Given the description of an element on the screen output the (x, y) to click on. 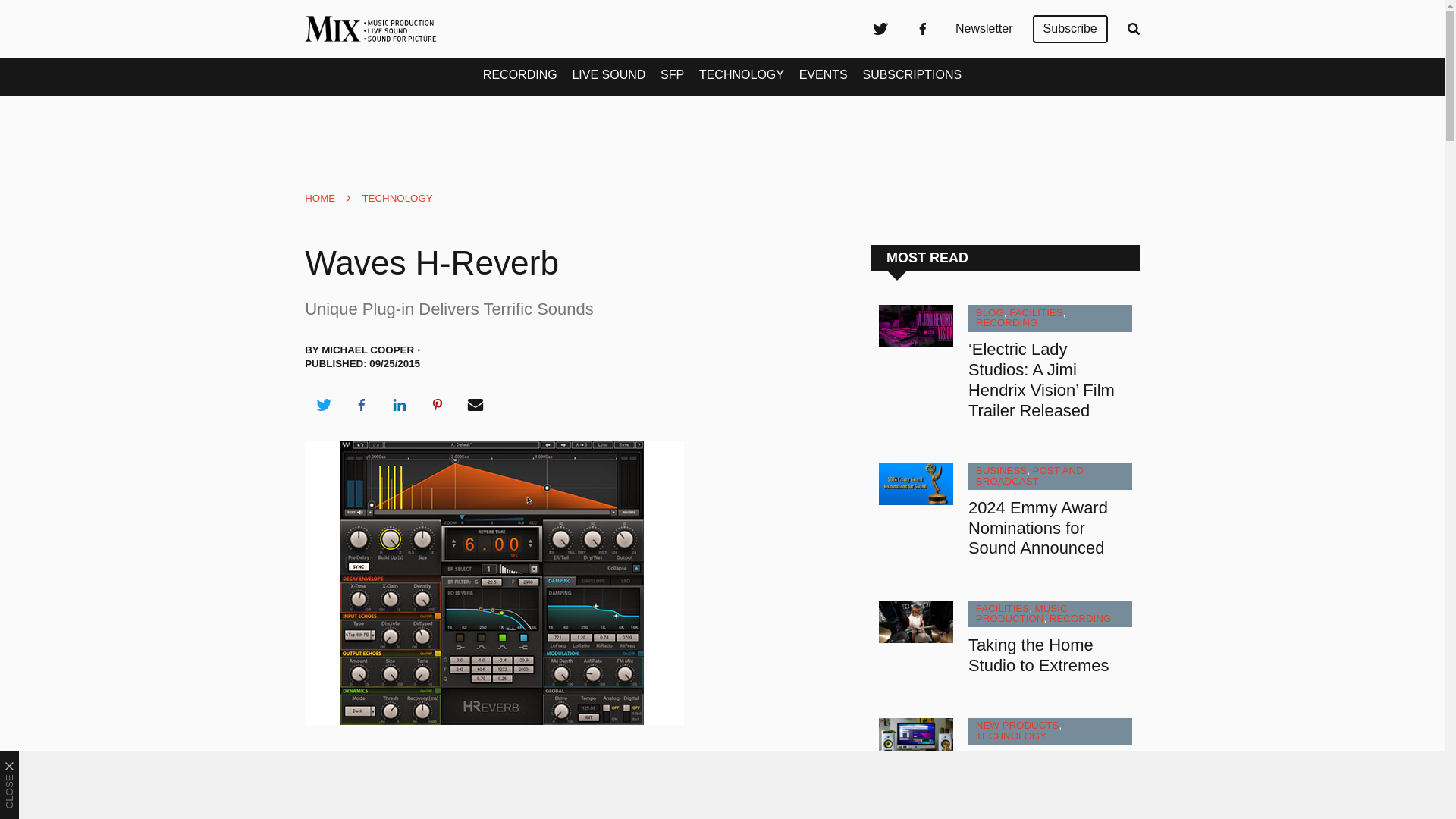
Share via Email (476, 404)
Share on Twitter (323, 404)
Share on LinkedIn (399, 404)
Share on Facebook (361, 404)
Share on Pinterest (438, 404)
